Given the description of an element on the screen output the (x, y) to click on. 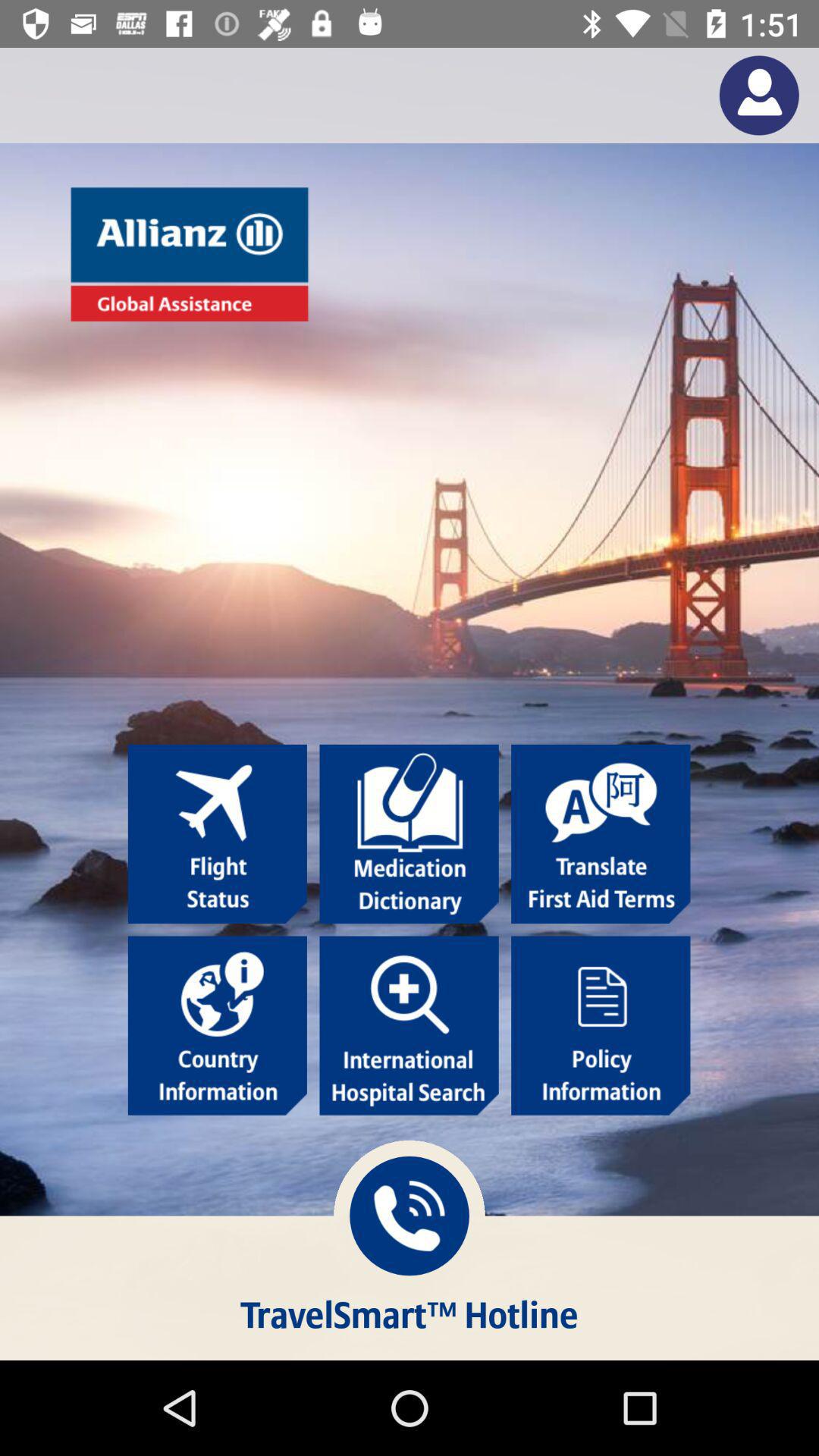
switch on the article (217, 1025)
